Given the description of an element on the screen output the (x, y) to click on. 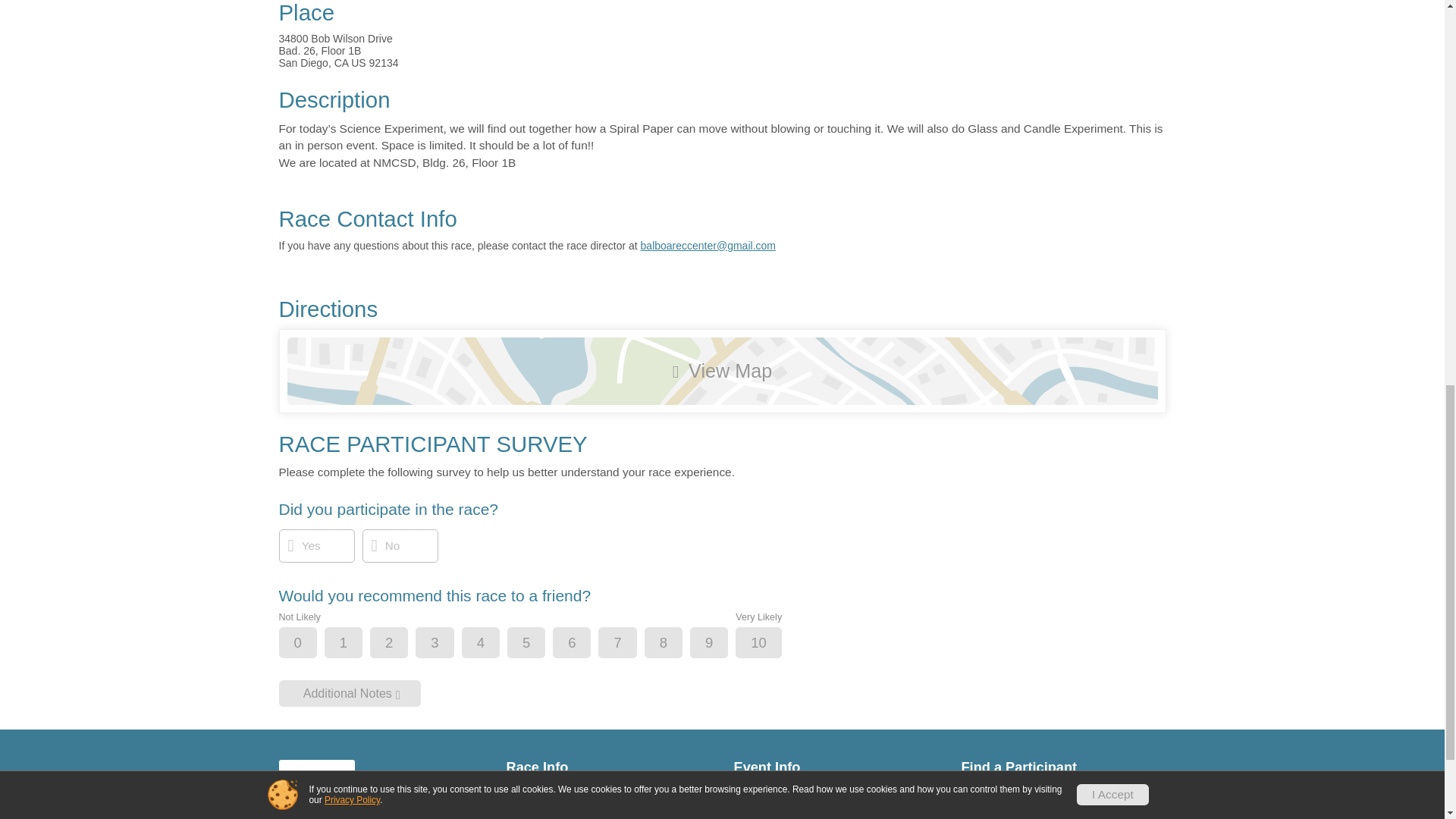
Event Info (836, 767)
0 (310, 643)
2 (401, 643)
Additional Notes (349, 693)
Find a Participant (1063, 767)
10 (770, 643)
View Map (721, 370)
3 (447, 643)
8 (675, 643)
7 (629, 643)
5 (539, 643)
1 (355, 643)
9 (721, 643)
4 (493, 643)
Race Info (608, 767)
